Given the description of an element on the screen output the (x, y) to click on. 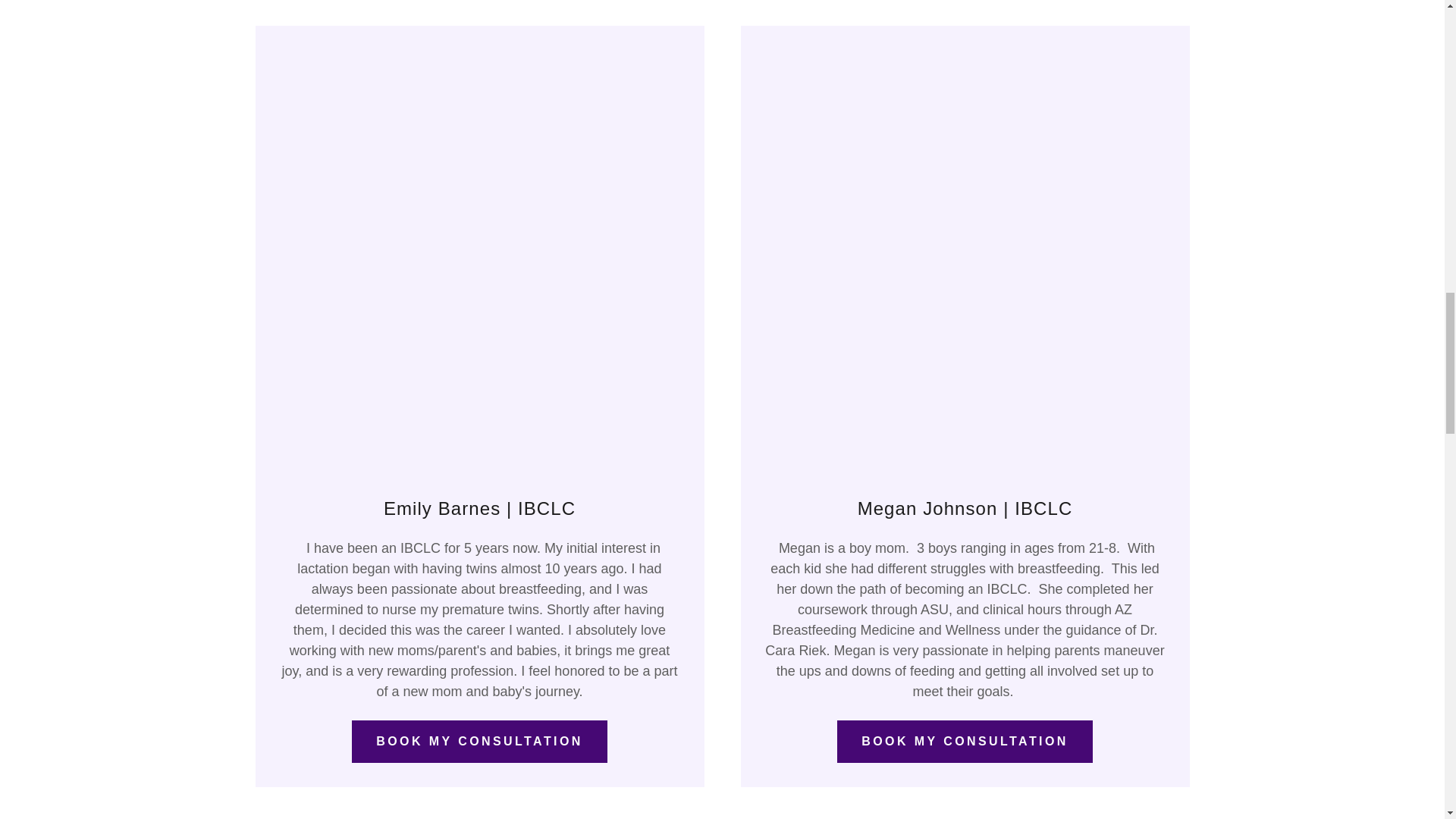
BOOK MY CONSULTATION (479, 741)
BOOK MY CONSULTATION (965, 741)
